Given the description of an element on the screen output the (x, y) to click on. 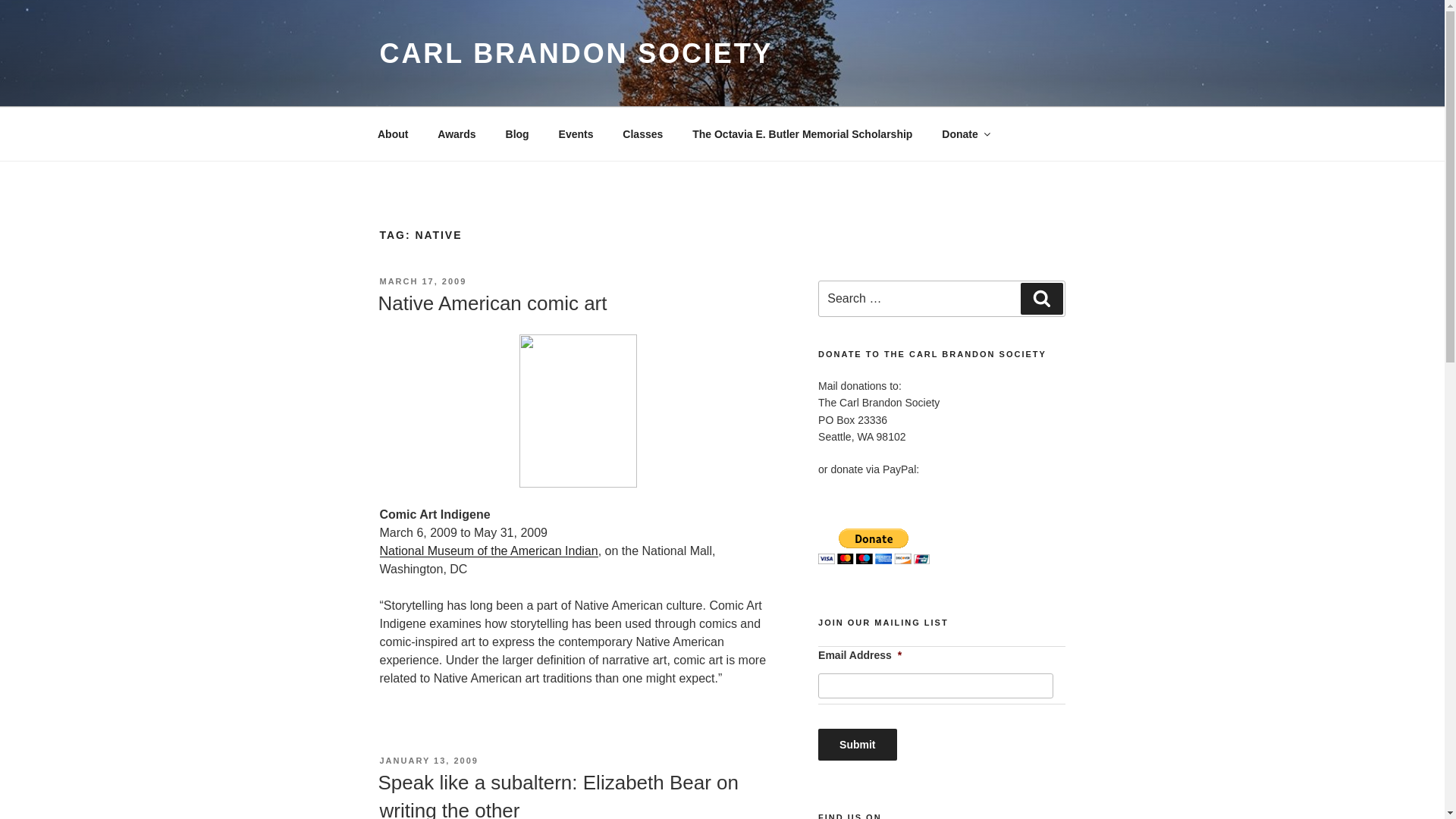
MARCH 17, 2009 (421, 280)
National Museum of the American Indian (487, 550)
Events (575, 133)
CARL BRANDON SOCIETY (575, 52)
Classes (643, 133)
Native American comic art (492, 302)
Submit (857, 744)
Submit (857, 744)
About (392, 133)
Search (1041, 298)
JANUARY 13, 2009 (427, 759)
Donate (964, 133)
Speak like a subaltern: Elizabeth Bear on writing the other (557, 795)
Blog (516, 133)
Awards (457, 133)
